Given the description of an element on the screen output the (x, y) to click on. 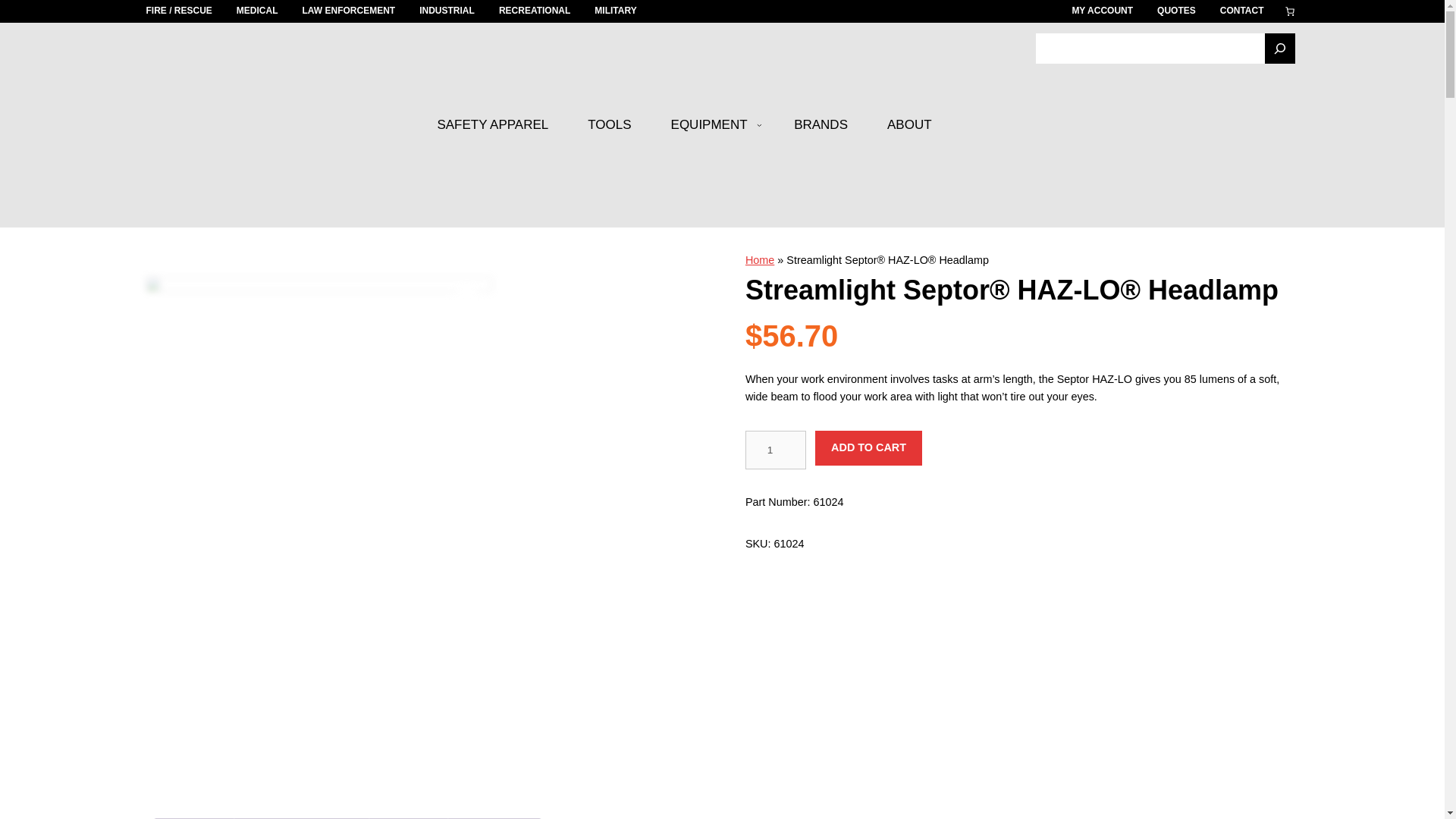
RECREATIONAL (534, 11)
MEDICAL (256, 11)
MY ACCOUNT (1101, 11)
ADD TO CART (868, 448)
SAFETY APPAREL (492, 124)
EQUIPMENT (709, 124)
QUOTES (1176, 11)
MILITARY (615, 11)
TOOLS (609, 124)
INDUSTRIAL (446, 11)
